Given the description of an element on the screen output the (x, y) to click on. 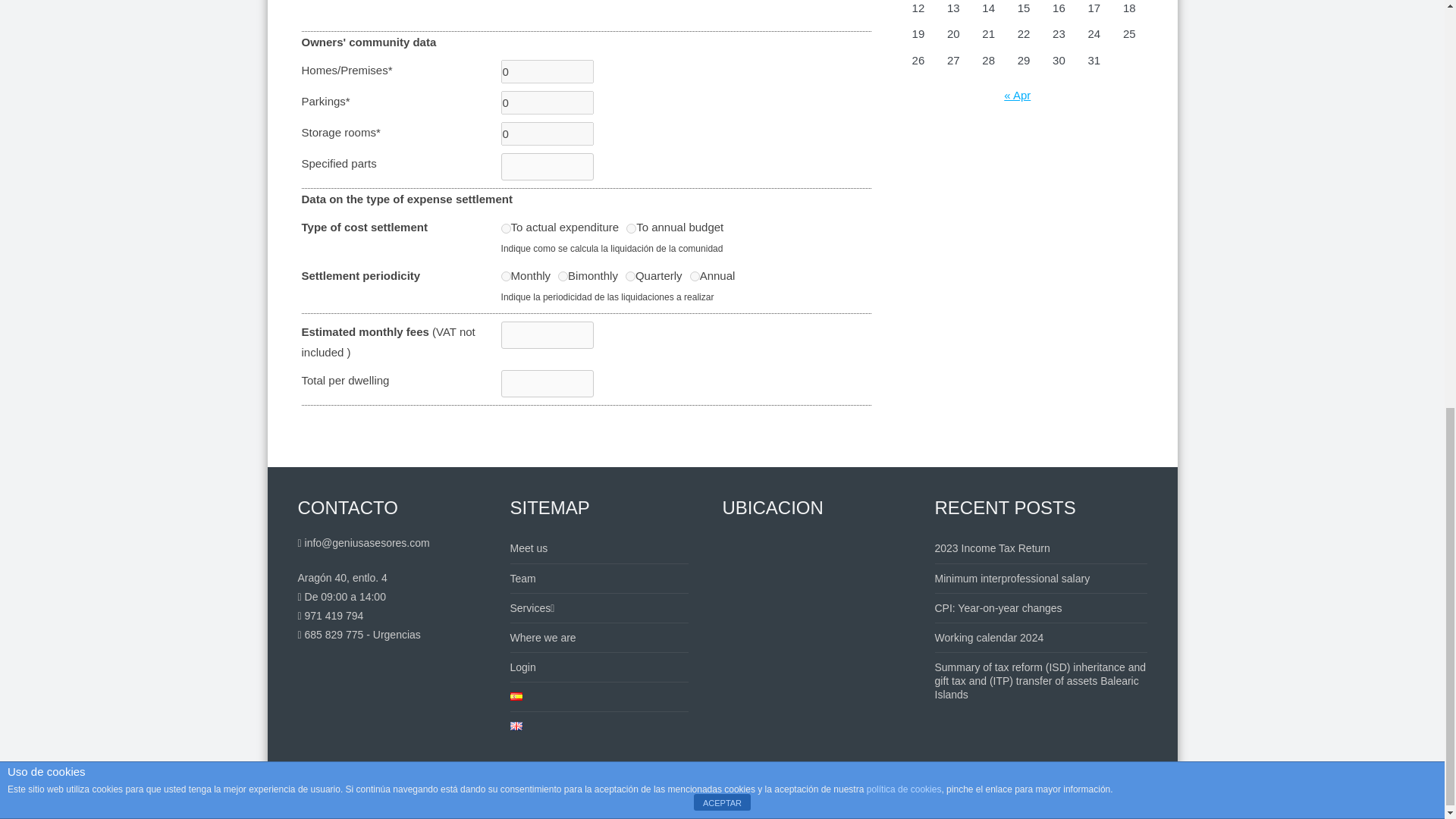
1 (630, 276)
1 (631, 228)
0 (547, 133)
AccessPress Lite (1106, 799)
1.10 (505, 276)
1 (695, 276)
0 (547, 71)
1.10 (505, 228)
1.05 (562, 276)
0 (547, 102)
